Given the description of an element on the screen output the (x, y) to click on. 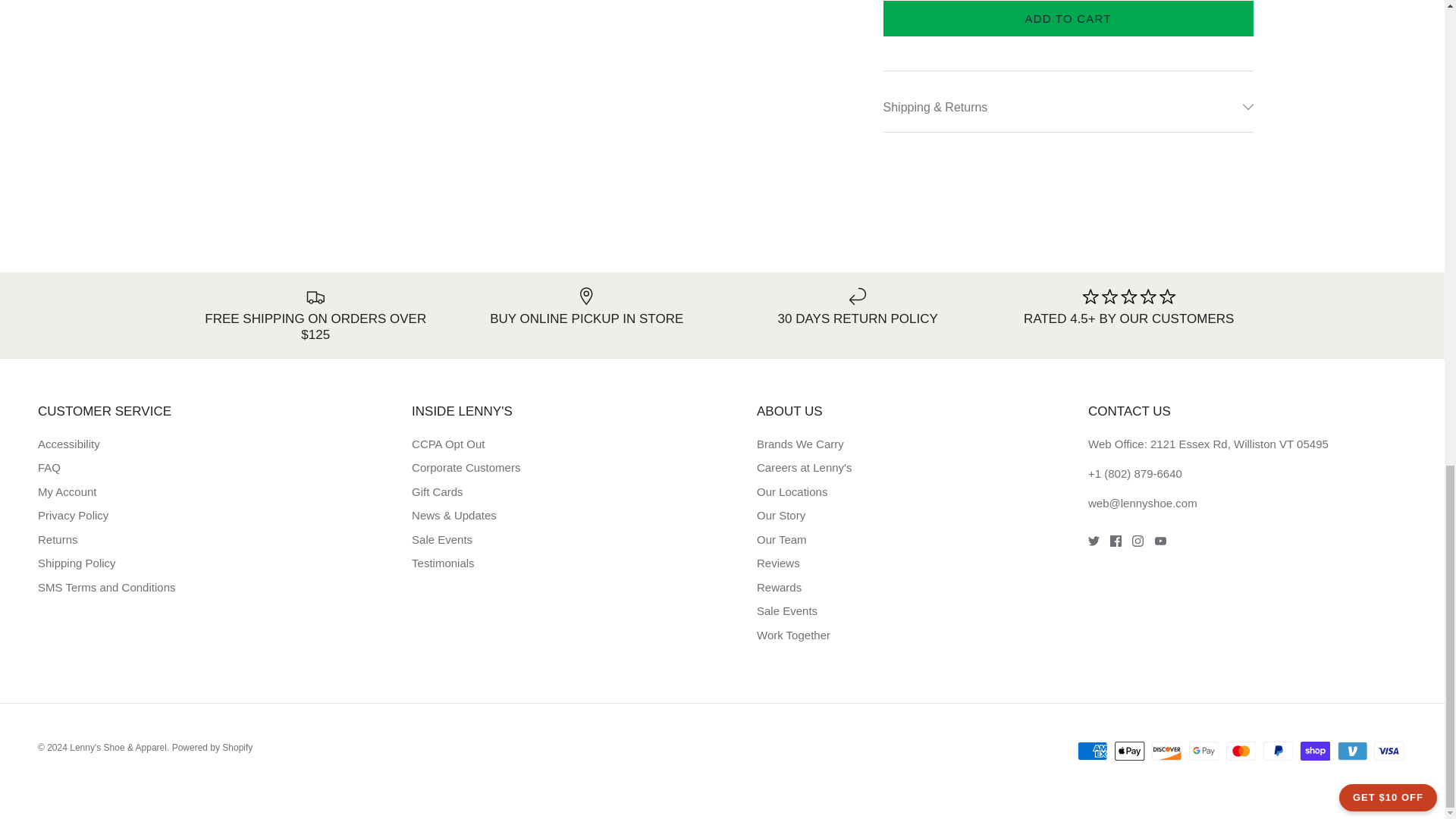
Facebook (1115, 541)
Twitter (1093, 541)
